Given the description of an element on the screen output the (x, y) to click on. 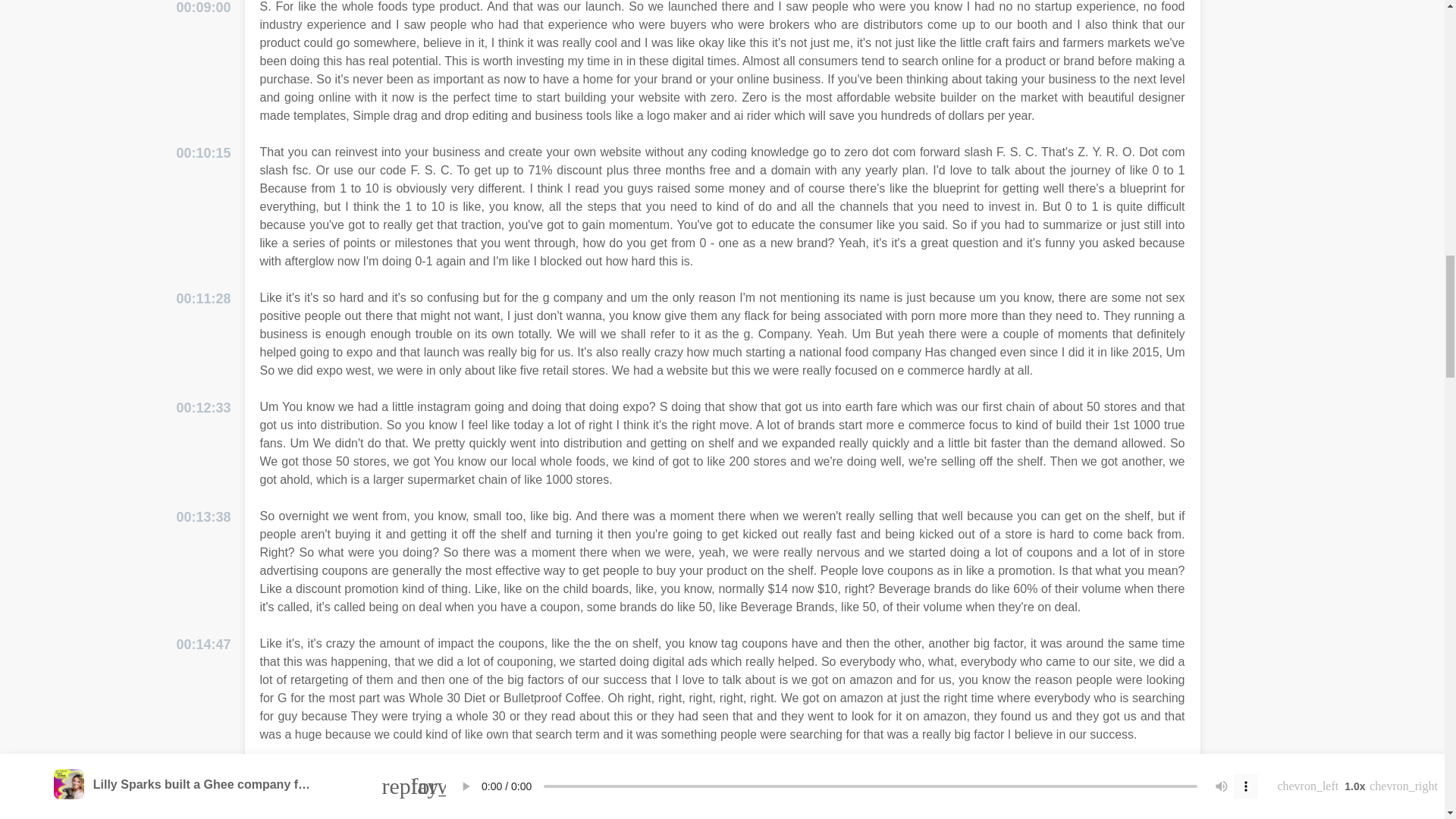
00:16:04 (203, 772)
00:10:15 (203, 153)
00:12:33 (203, 408)
00:14:47 (203, 644)
00:11:28 (203, 299)
00:09:00 (203, 9)
00:13:38 (203, 516)
